Given the description of an element on the screen output the (x, y) to click on. 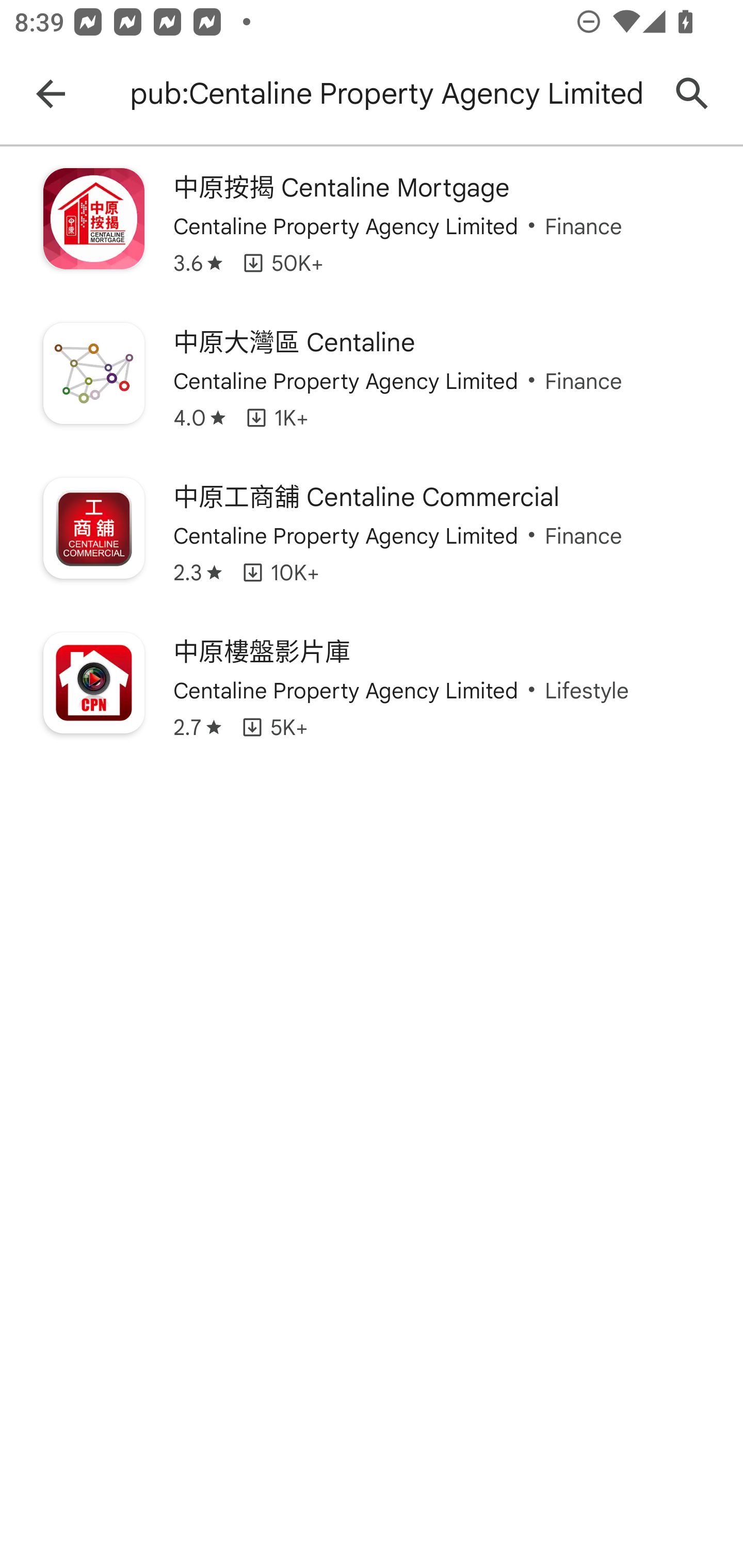
pub:Centaline Property Agency Limited (389, 93)
Navigate up (50, 93)
Search Google Play (692, 93)
